Given the description of an element on the screen output the (x, y) to click on. 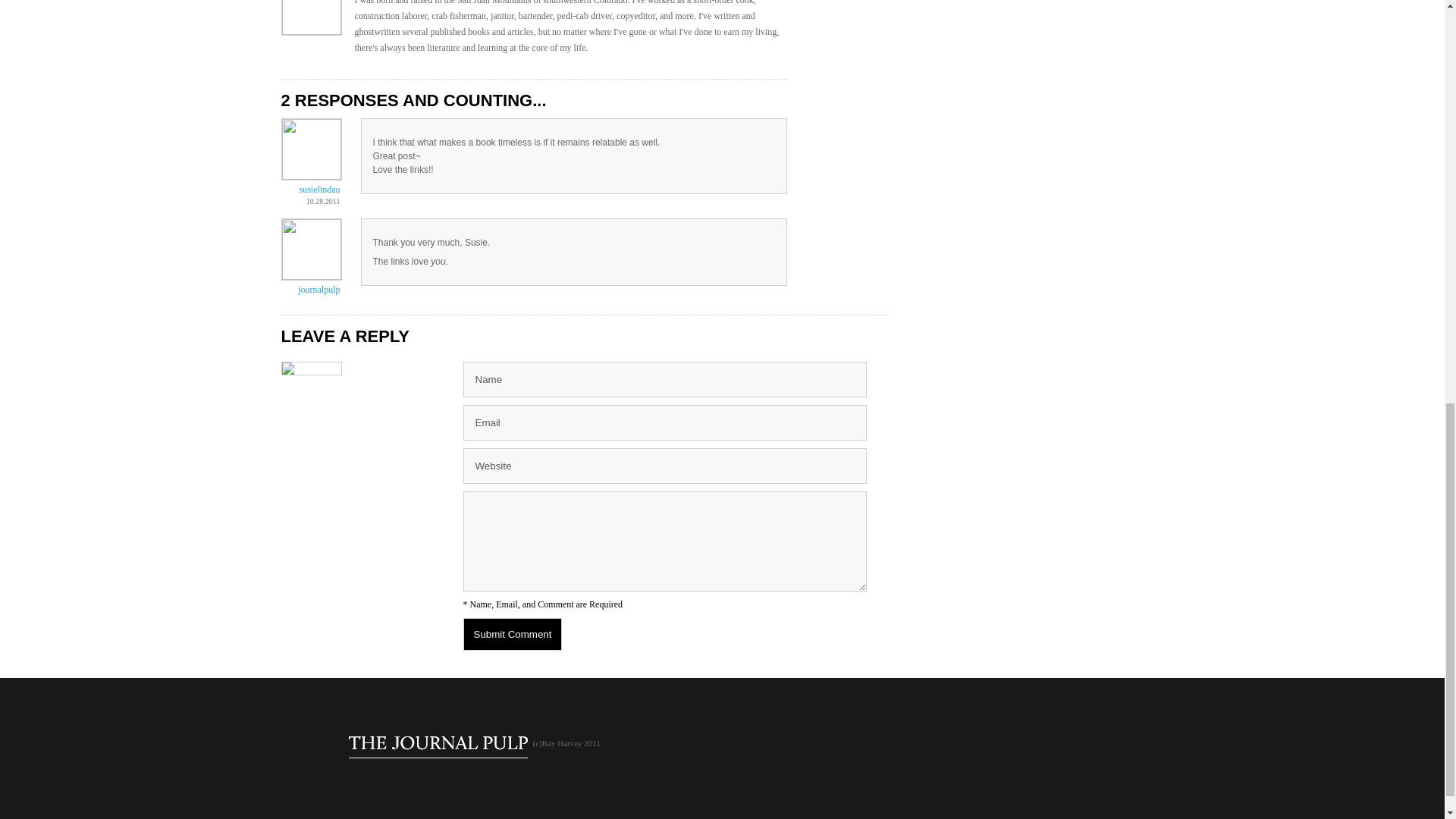
Email (664, 422)
Website (664, 465)
journalpulp (318, 289)
Name (664, 379)
susielindau (318, 189)
Submit Comment (512, 634)
Submit Comment (512, 634)
